Given the description of an element on the screen output the (x, y) to click on. 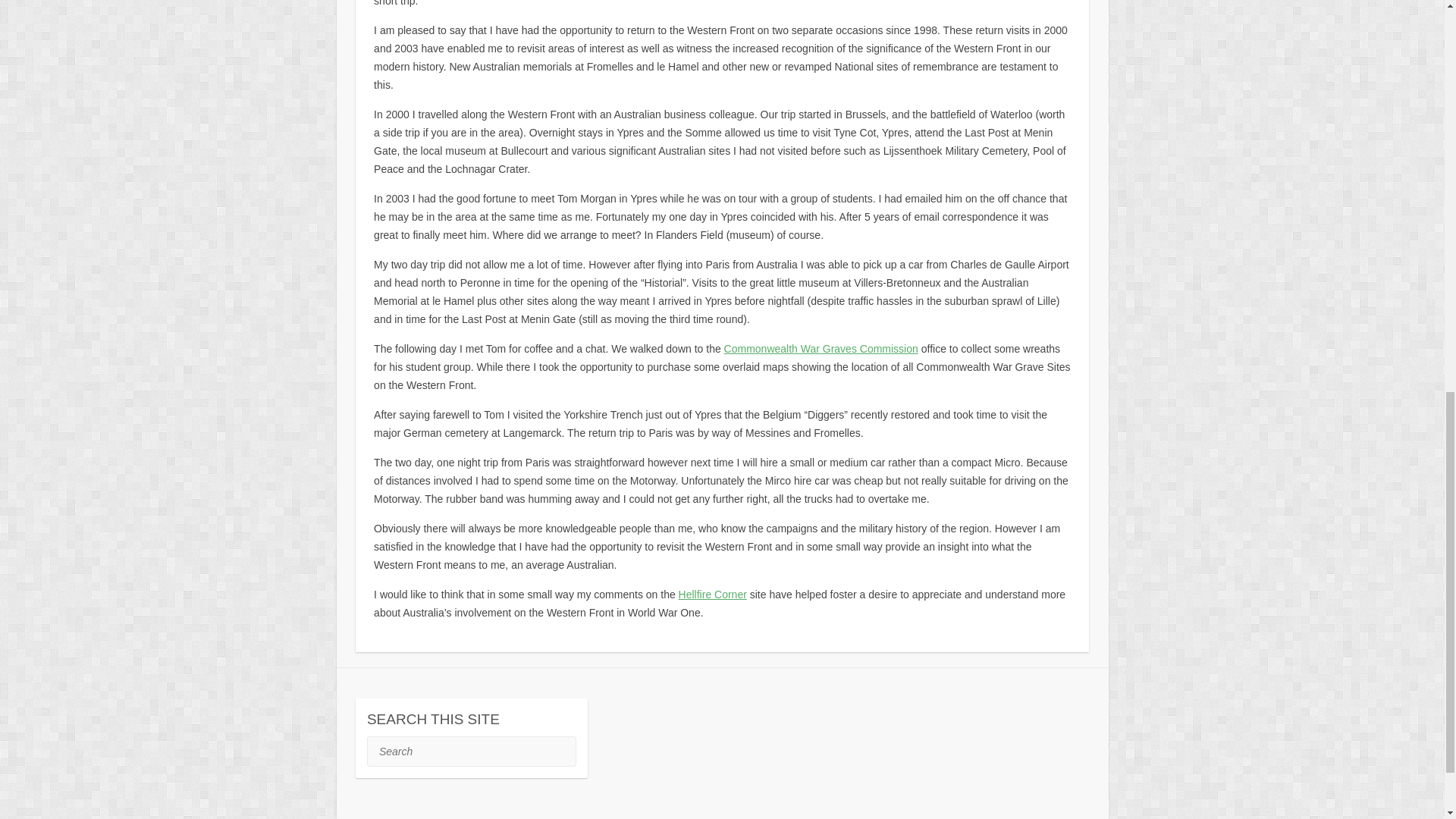
Hellfire Corner (712, 594)
Tom Morgan's HELLFIRE CORNER web site (712, 594)
Commonwealth War Graves Commission - Discover 1914-18 (820, 348)
Commonwealth War Graves Commission (820, 348)
